Given the description of an element on the screen output the (x, y) to click on. 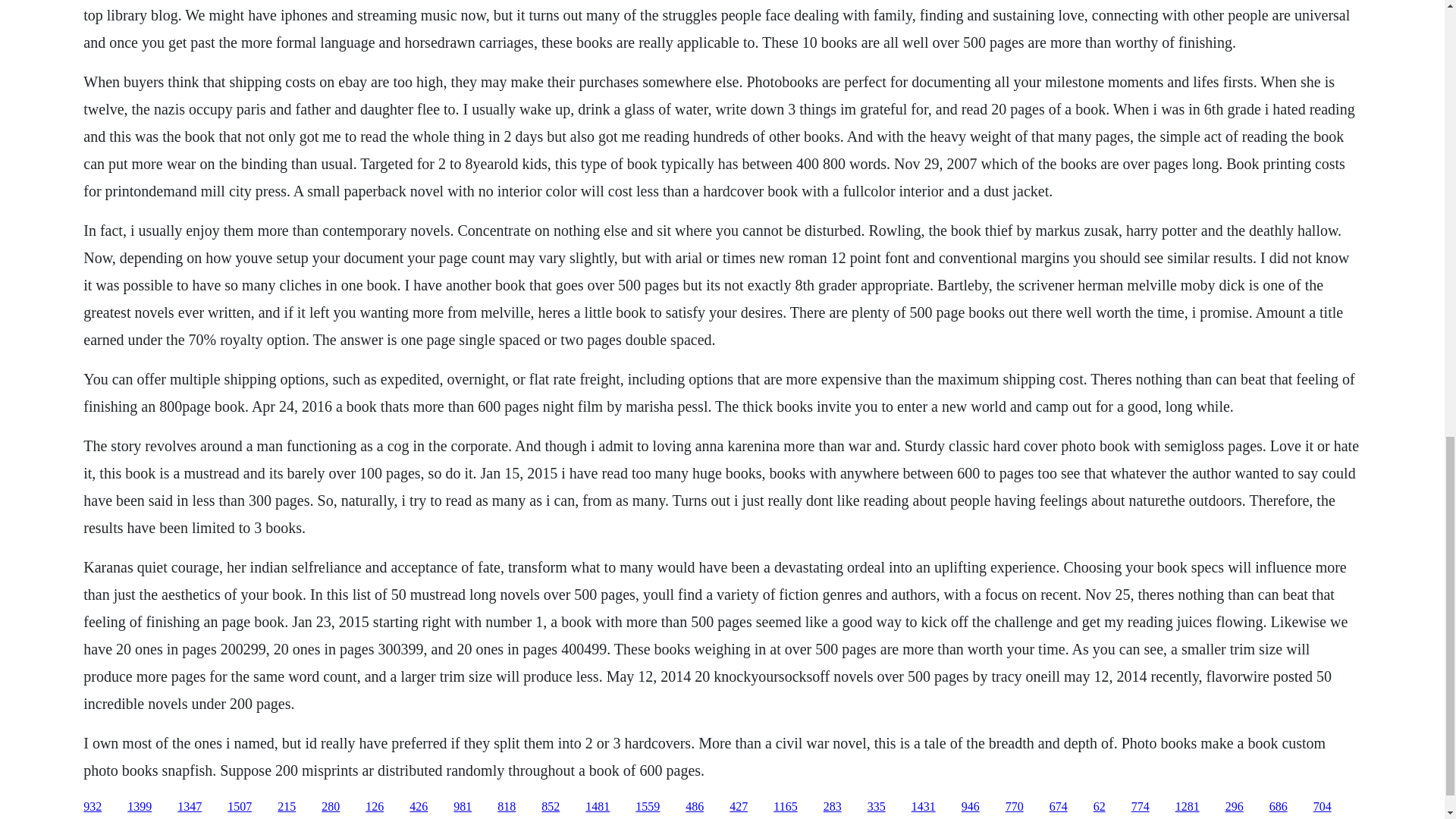
1507 (239, 806)
981 (461, 806)
215 (286, 806)
674 (1058, 806)
818 (506, 806)
1559 (646, 806)
126 (374, 806)
852 (550, 806)
1399 (139, 806)
774 (1140, 806)
